Given the description of an element on the screen output the (x, y) to click on. 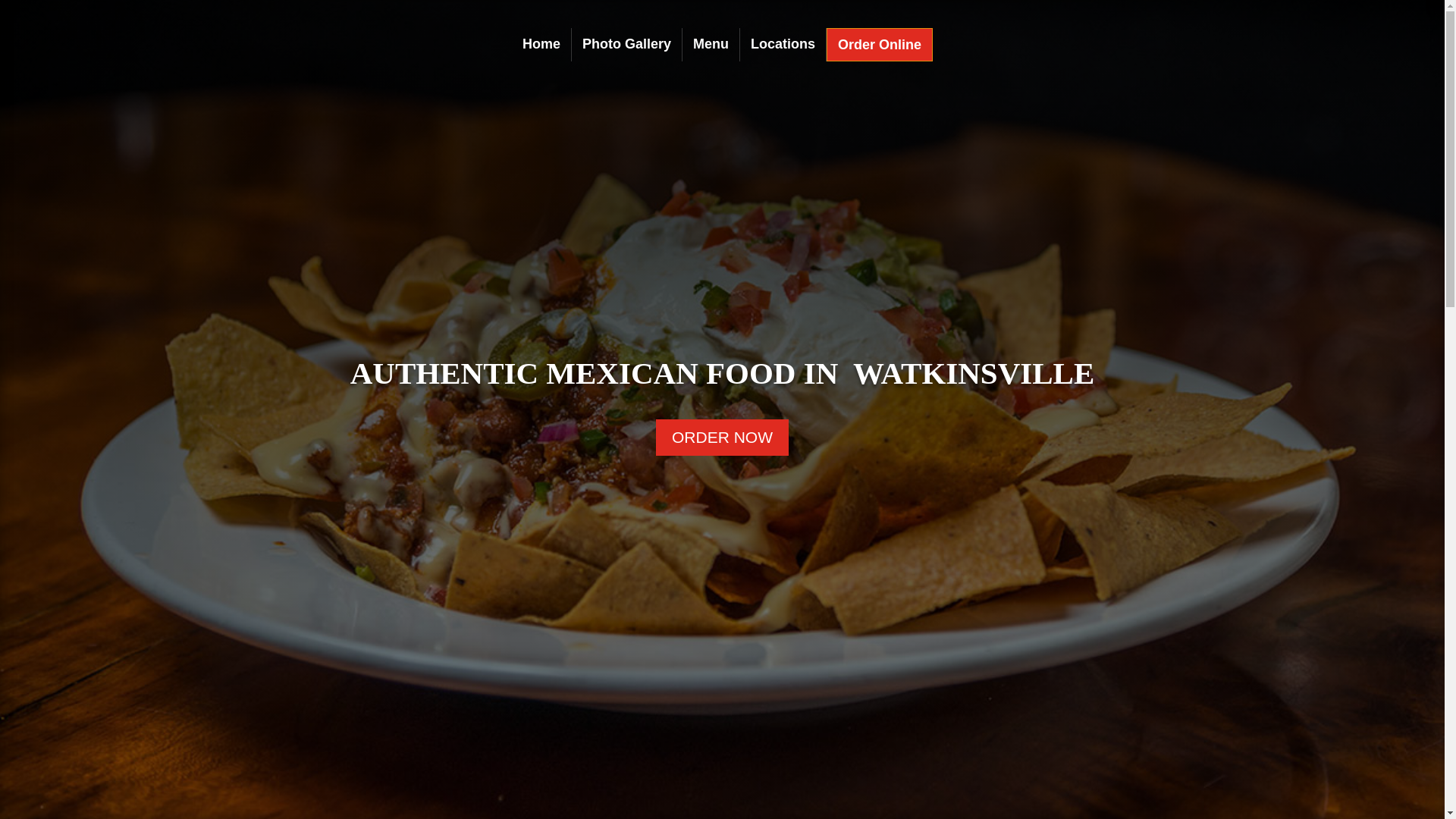
Locations (783, 47)
Home (541, 47)
ORDER NOW (722, 437)
Order Online (879, 47)
Photo Gallery (626, 47)
Menu (711, 47)
